Given the description of an element on the screen output the (x, y) to click on. 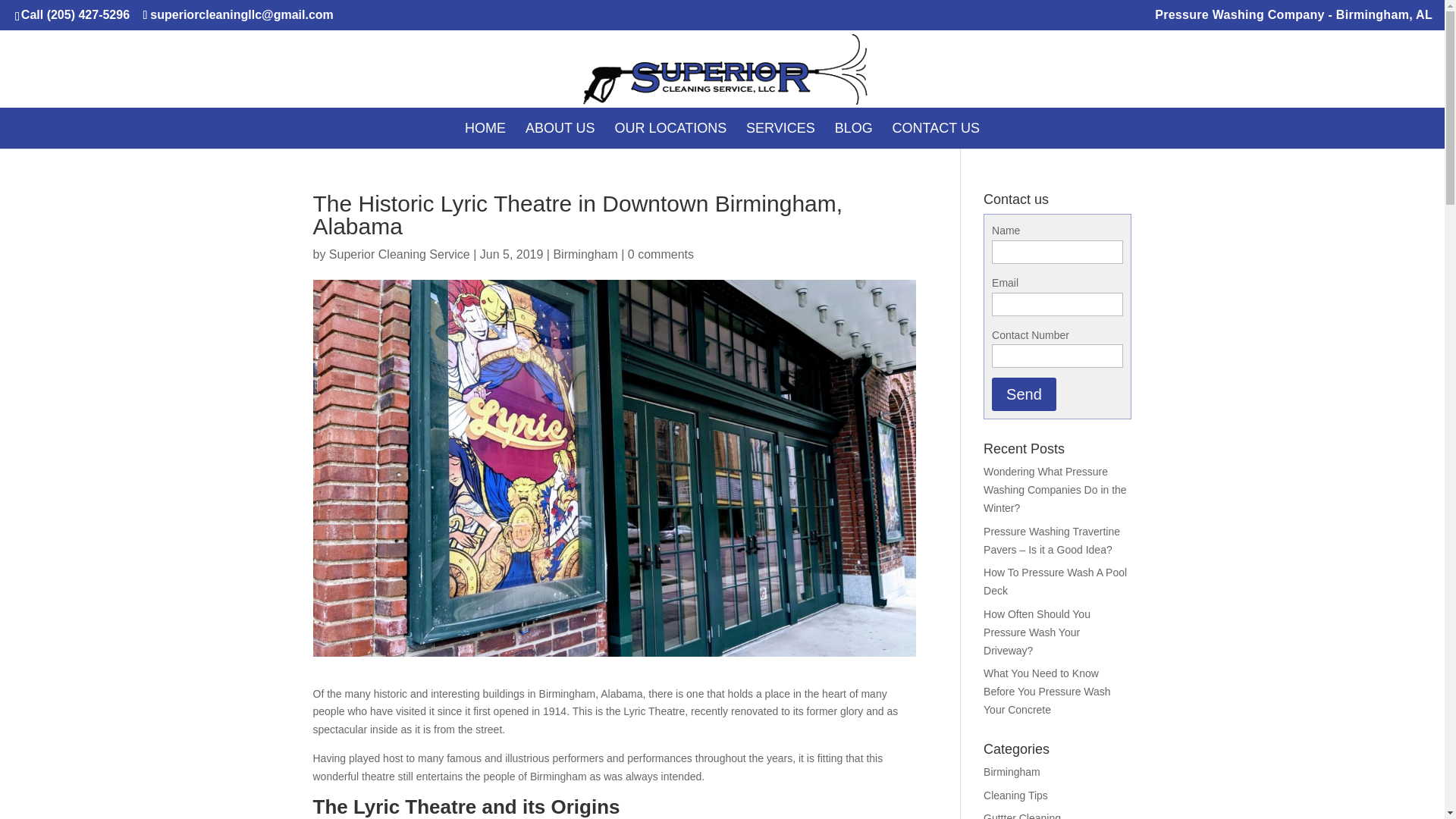
OUR LOCATIONS (670, 127)
CONTACT US (935, 127)
BLOG (853, 127)
Posts by Superior Cleaning Service (399, 254)
HOME (484, 127)
ABOUT US (560, 127)
SERVICES (780, 127)
